Given the description of an element on the screen output the (x, y) to click on. 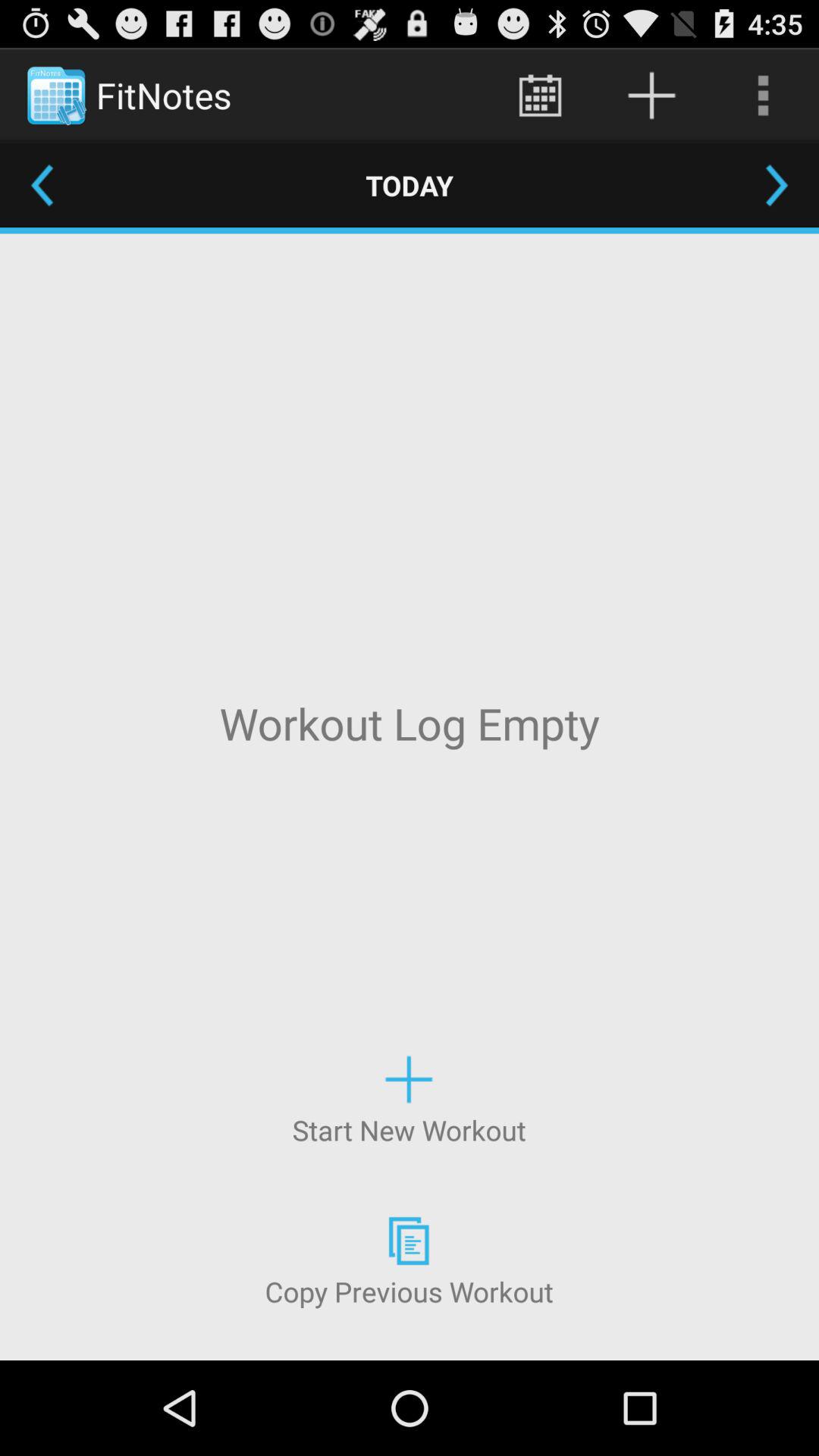
open the item to the left of the today app (42, 185)
